Given the description of an element on the screen output the (x, y) to click on. 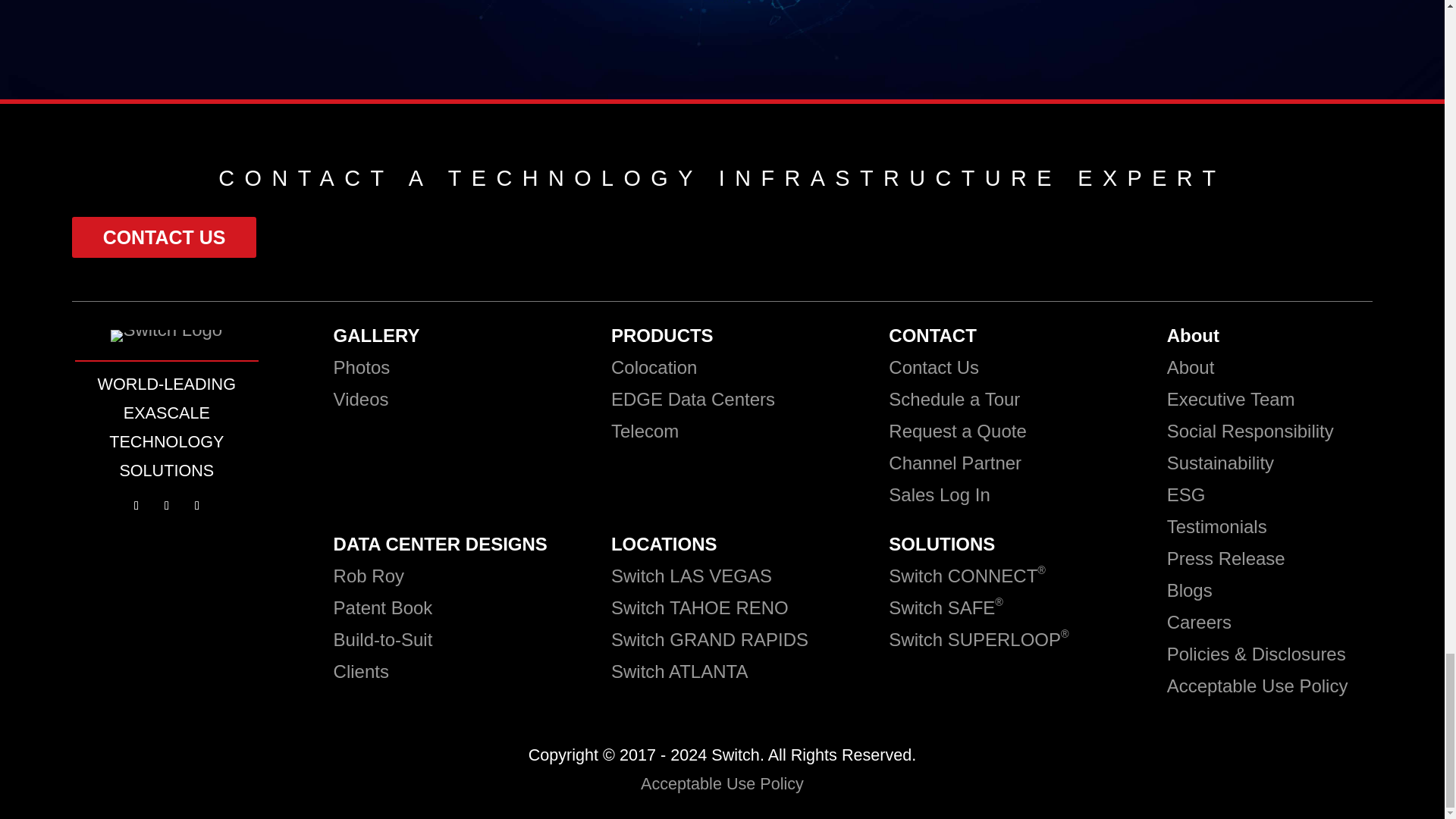
Follow on X (166, 505)
Switch VIDEOS (360, 399)
Switch PATENT BOOK (385, 607)
Switch COLOCATION (654, 367)
Follow on Facebook (135, 505)
Switch CLIENTS (360, 670)
Switch ROB ROY (368, 575)
Switch EDGE (692, 399)
Switch TAHOE RENO (702, 607)
Switch LAS VEGAS (691, 575)
